Given the description of an element on the screen output the (x, y) to click on. 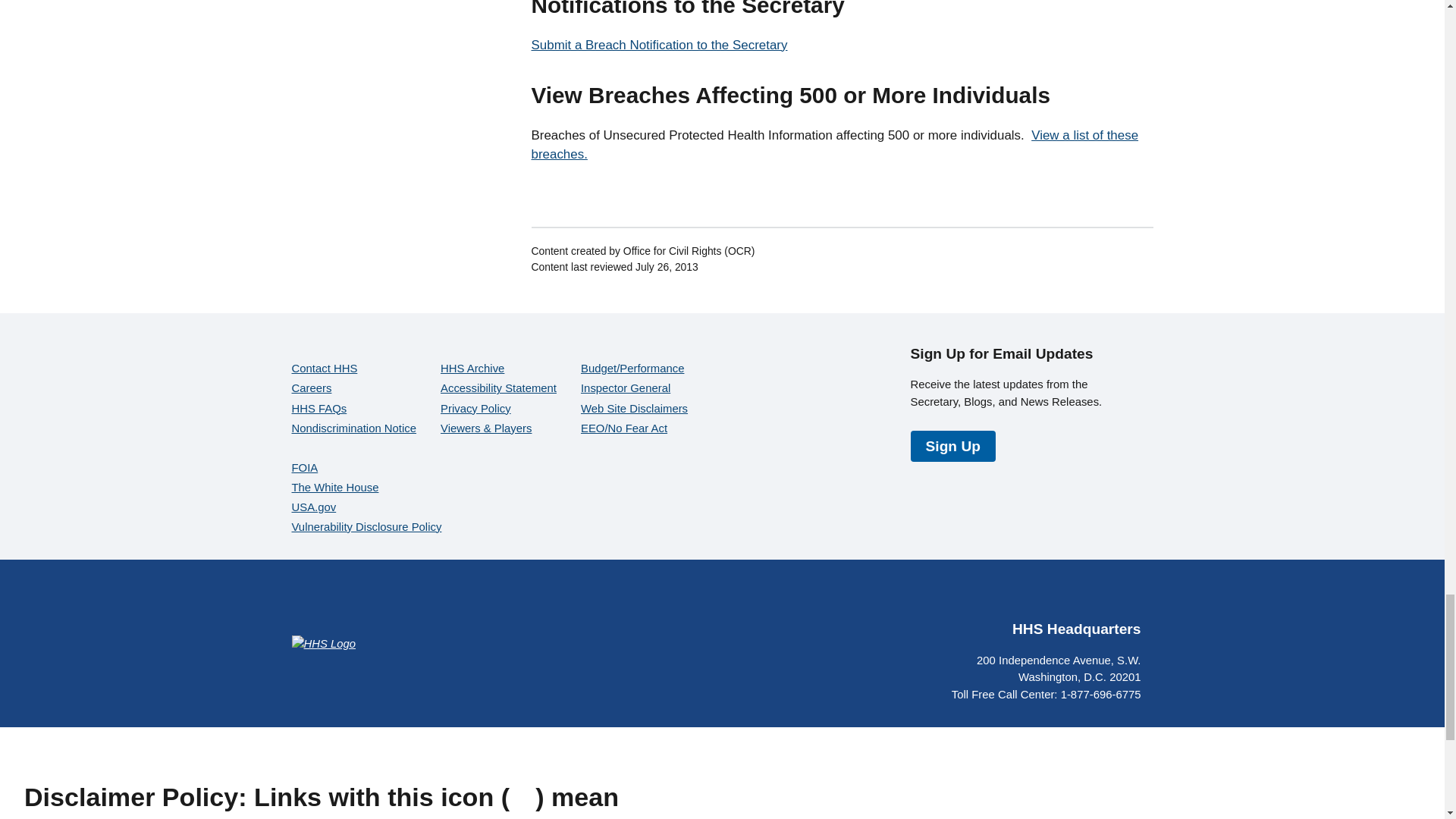
Visit the HHS YouTube account (1055, 595)
Visit the HHS Facebook account (982, 595)
Visit the HHS Instagram account (1091, 595)
Visit the HHS LinkedIn account (1128, 595)
Visit the HHS X account (1018, 595)
